Given the description of an element on the screen output the (x, y) to click on. 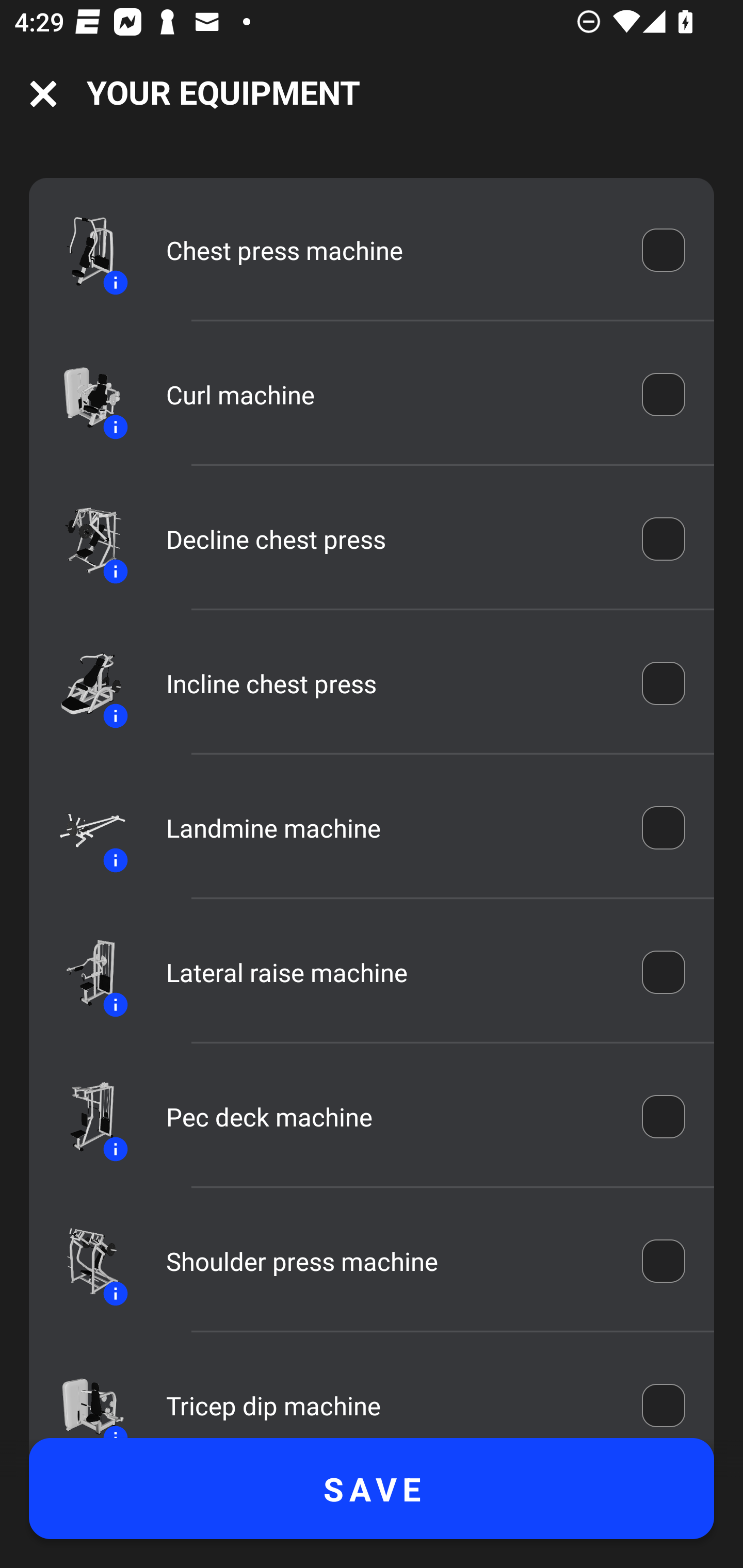
Navigation icon (43, 93)
Equipment icon Information icon (82, 250)
Chest press machine (389, 249)
Equipment icon Information icon (82, 394)
Curl machine (389, 394)
Equipment icon Information icon (82, 538)
Decline chest press (389, 538)
Equipment icon Information icon (82, 682)
Incline chest press (389, 682)
Equipment icon Information icon (82, 827)
Landmine machine (389, 827)
Equipment icon Information icon (82, 972)
Lateral raise machine (389, 972)
Equipment icon Information icon (82, 1117)
Pec deck machine (389, 1117)
Equipment icon Information icon (82, 1261)
Shoulder press machine (389, 1261)
Equipment icon Information icon (82, 1394)
Tricep dip machine (389, 1399)
SAVE (371, 1488)
